Given the description of an element on the screen output the (x, y) to click on. 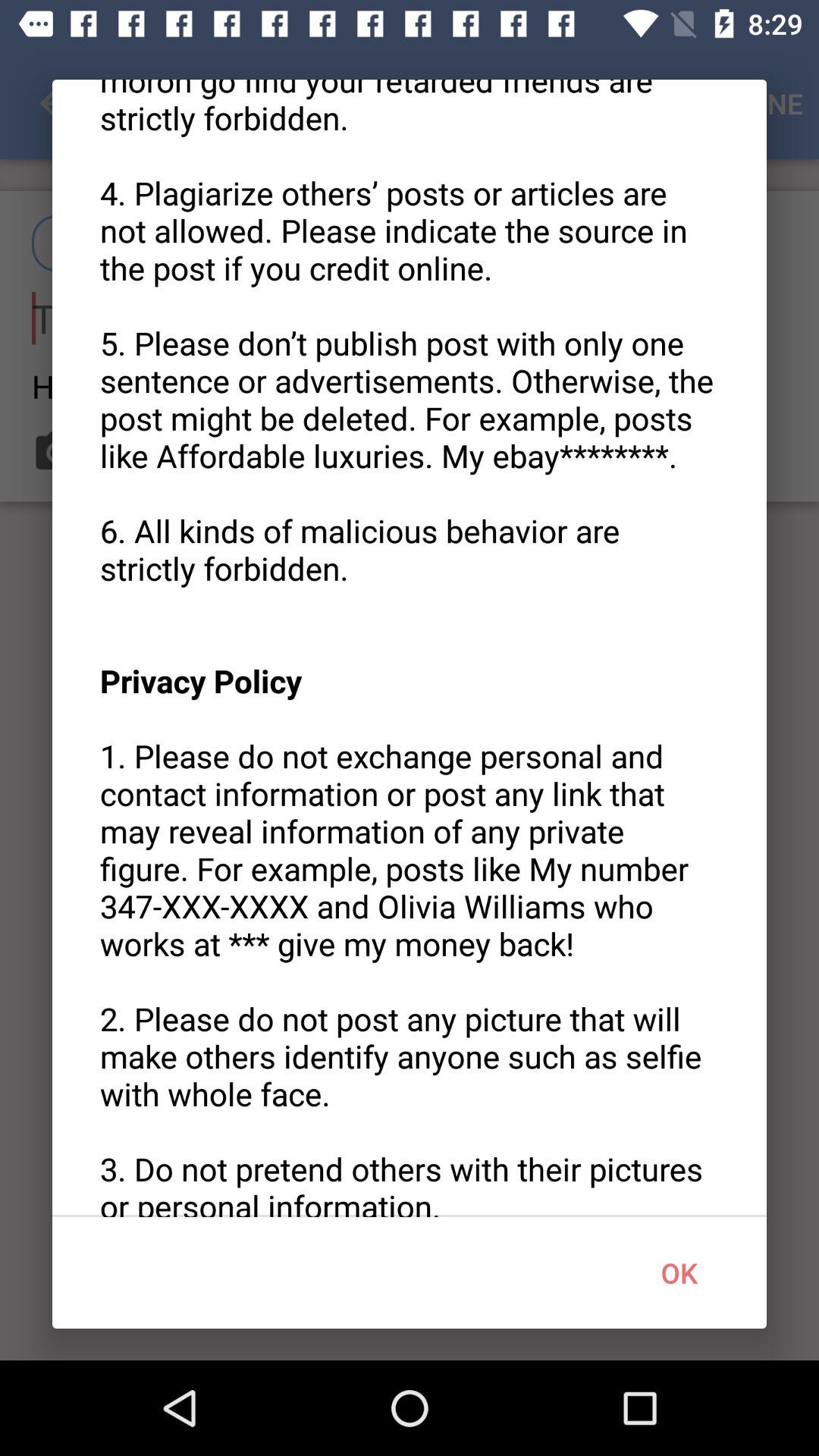
click the icon below our mission we item (678, 1272)
